Given the description of an element on the screen output the (x, y) to click on. 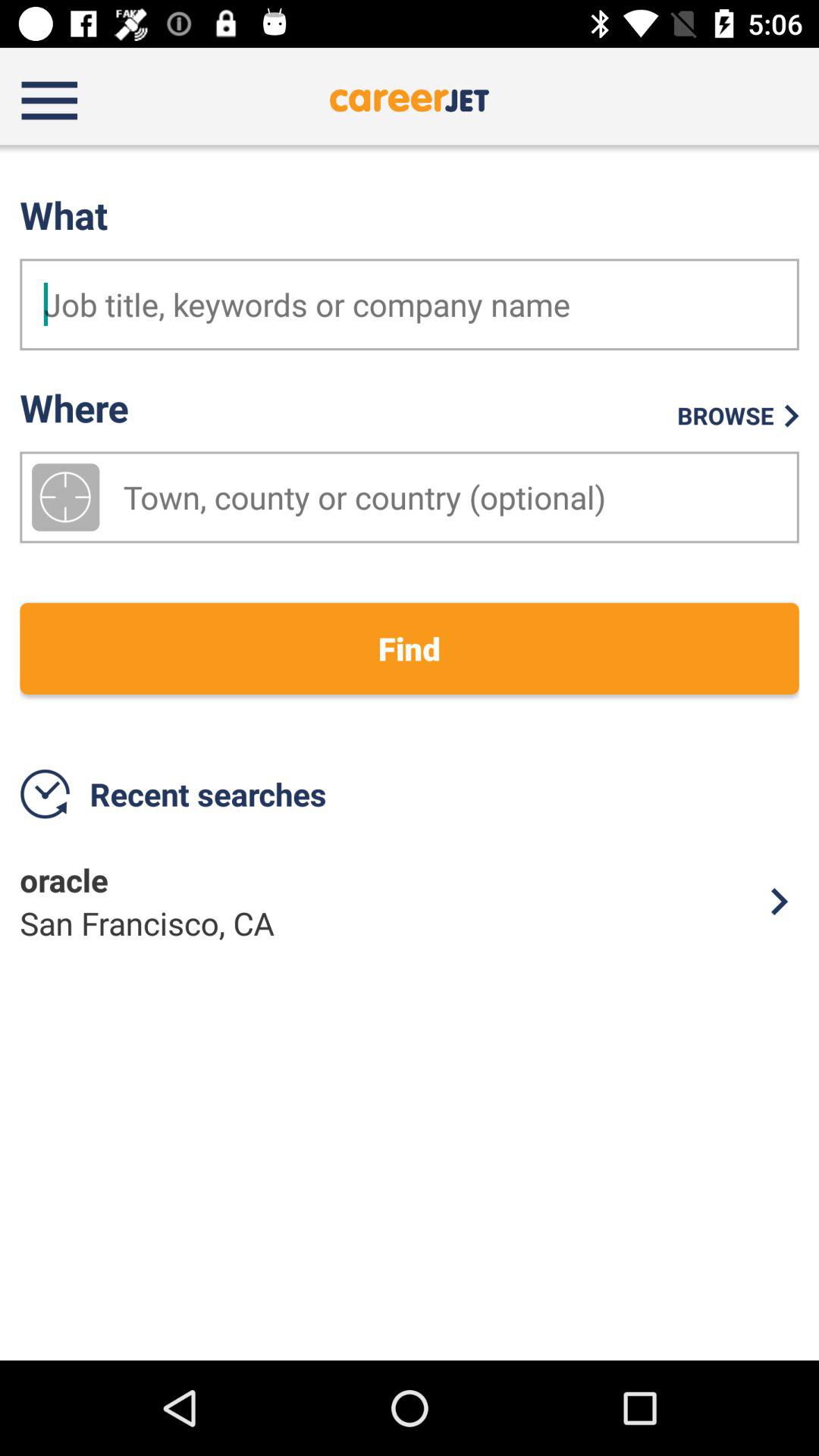
swipe to find item (409, 648)
